Given the description of an element on the screen output the (x, y) to click on. 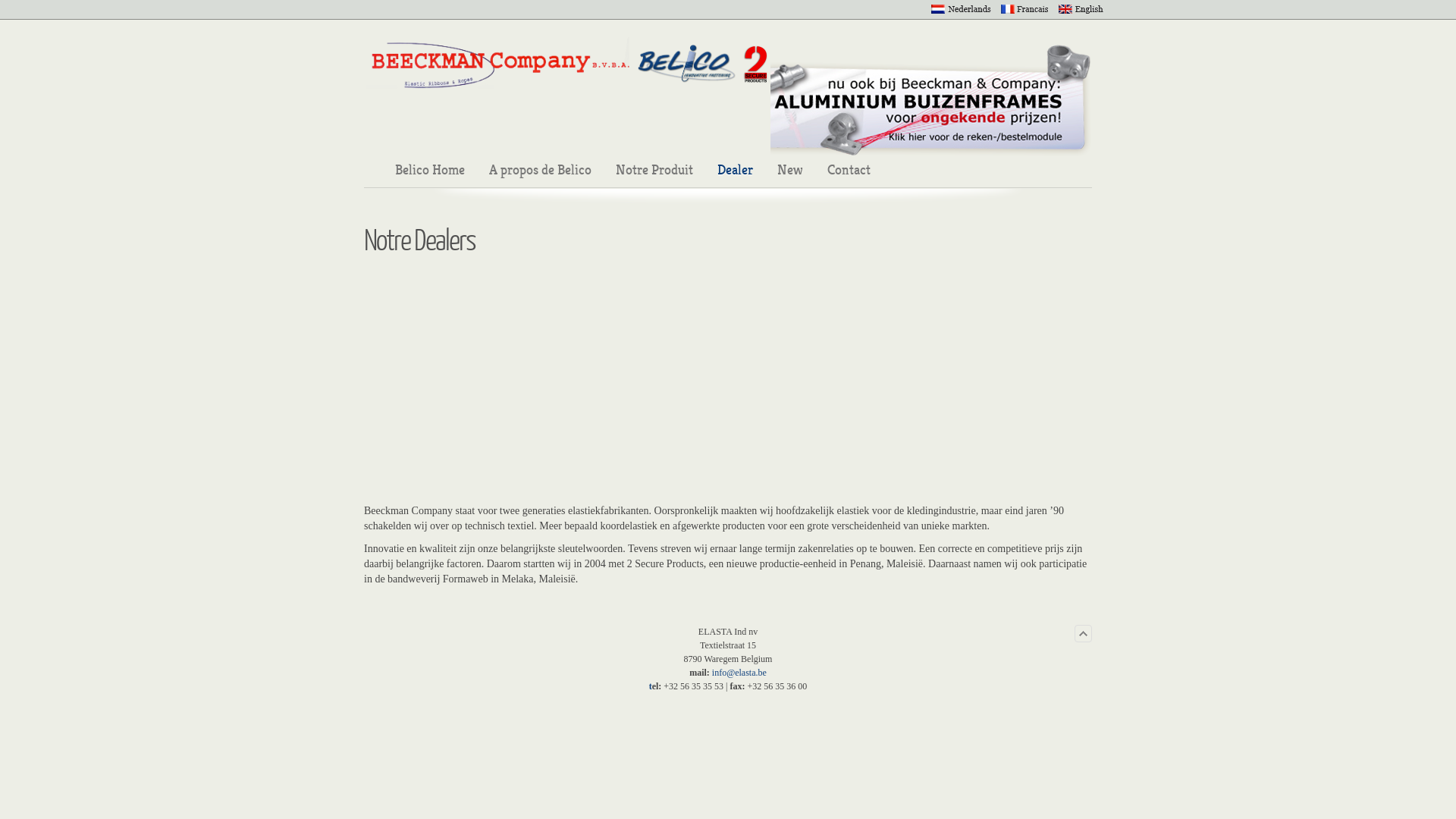
Dutch Element type: hover (961, 6)
Dealer Element type: text (735, 169)
A propos de Belico Element type: text (539, 169)
French Element type: hover (1024, 6)
info@elasta.be
t Element type: text (707, 679)
Contact Element type: text (848, 169)
Notre Produit Element type: text (654, 169)
English (UK) Element type: hover (1080, 6)
     Element type: text (567, 64)
Belico Home Element type: text (429, 169)
New Element type: text (789, 169)
